Given the description of an element on the screen output the (x, y) to click on. 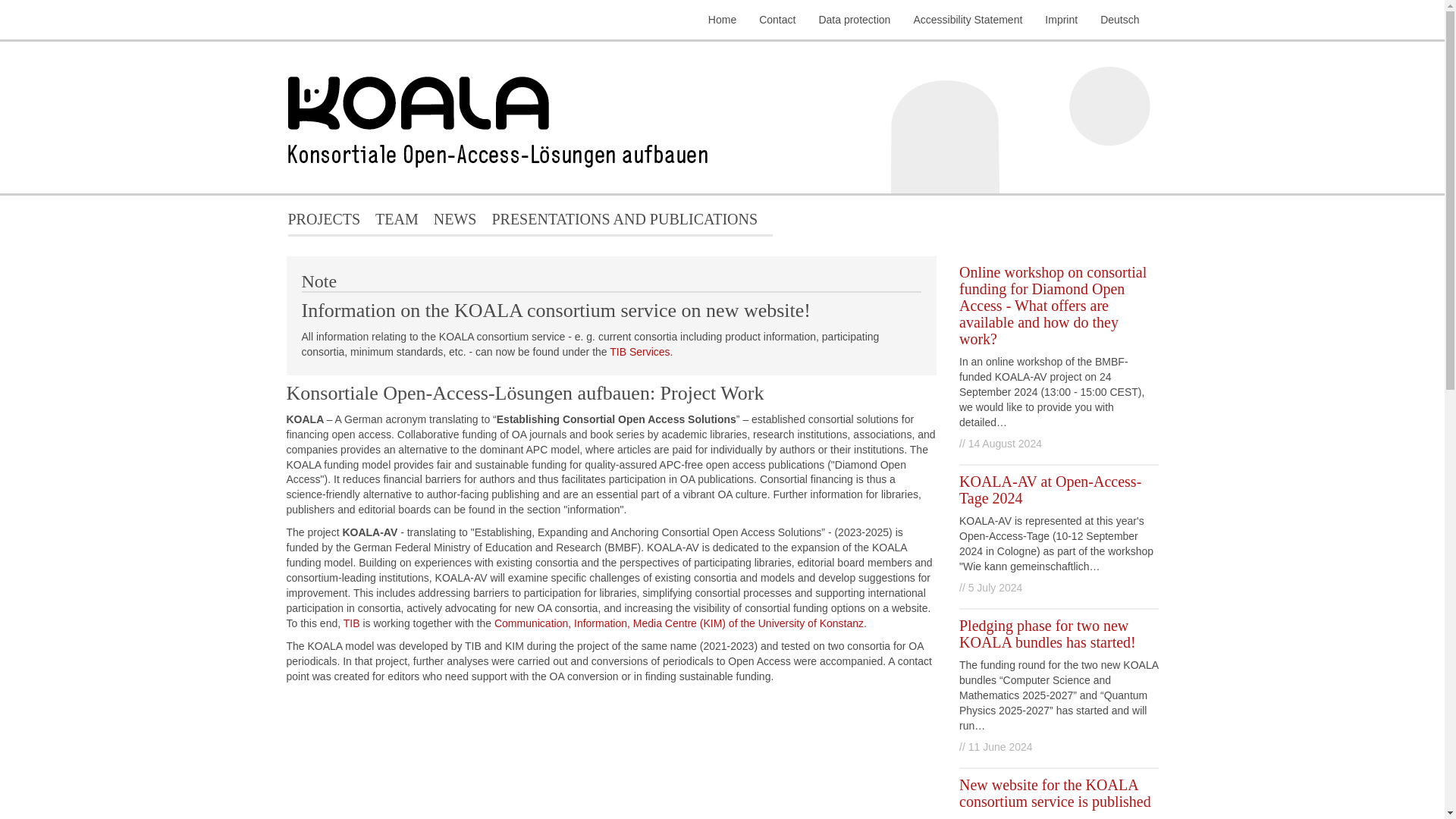
Projects (324, 226)
News (455, 226)
NEWS (455, 226)
Home (722, 117)
TIB Services (639, 351)
Team (397, 226)
Contact (777, 19)
Home (722, 19)
